Given the description of an element on the screen output the (x, y) to click on. 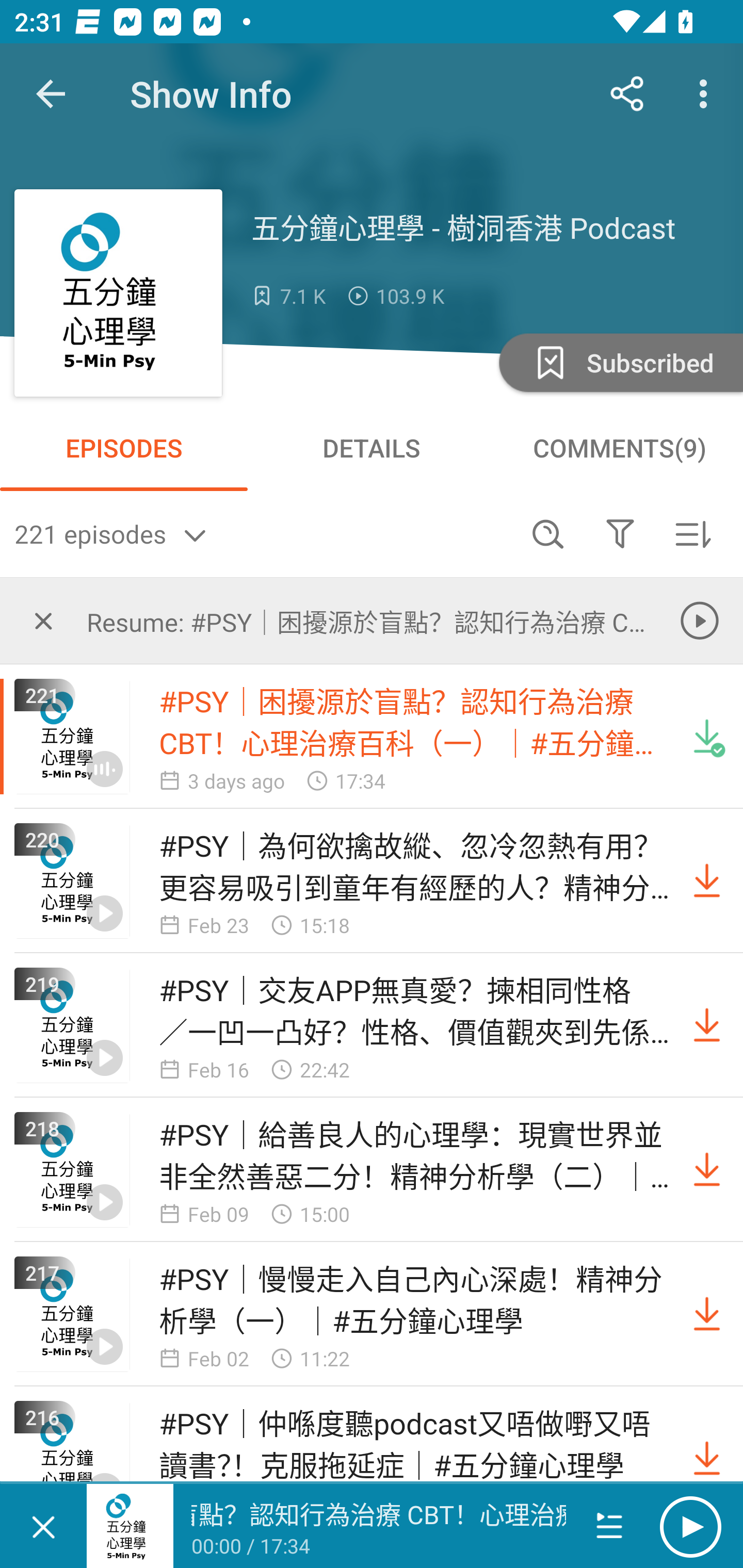
Navigate up (50, 93)
Share (626, 93)
More options (706, 93)
Unsubscribe Subscribed (619, 361)
EPISODES (123, 447)
DETAILS (371, 447)
COMMENTS(9) (619, 447)
221 episodes  (262, 533)
 Search (547, 533)
 (619, 533)
 Sorted by newest first (692, 533)
 (43, 620)
Downloaded (706, 736)
Download (706, 881)
Download (706, 1025)
Download (706, 1169)
Download (706, 1313)
Download (706, 1458)
Play (690, 1526)
